Given the description of an element on the screen output the (x, y) to click on. 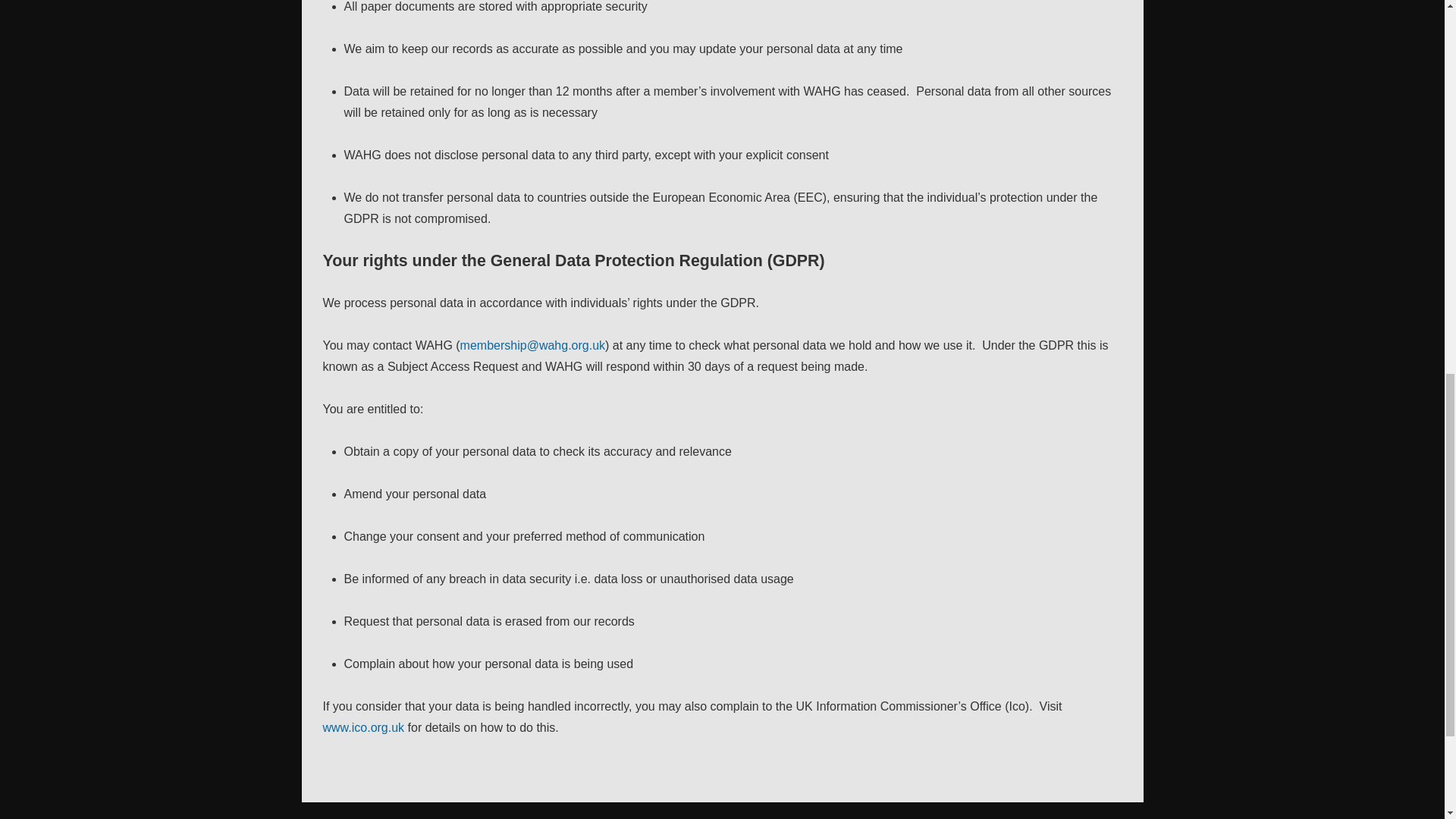
www.ico.org.uk (363, 727)
